Given the description of an element on the screen output the (x, y) to click on. 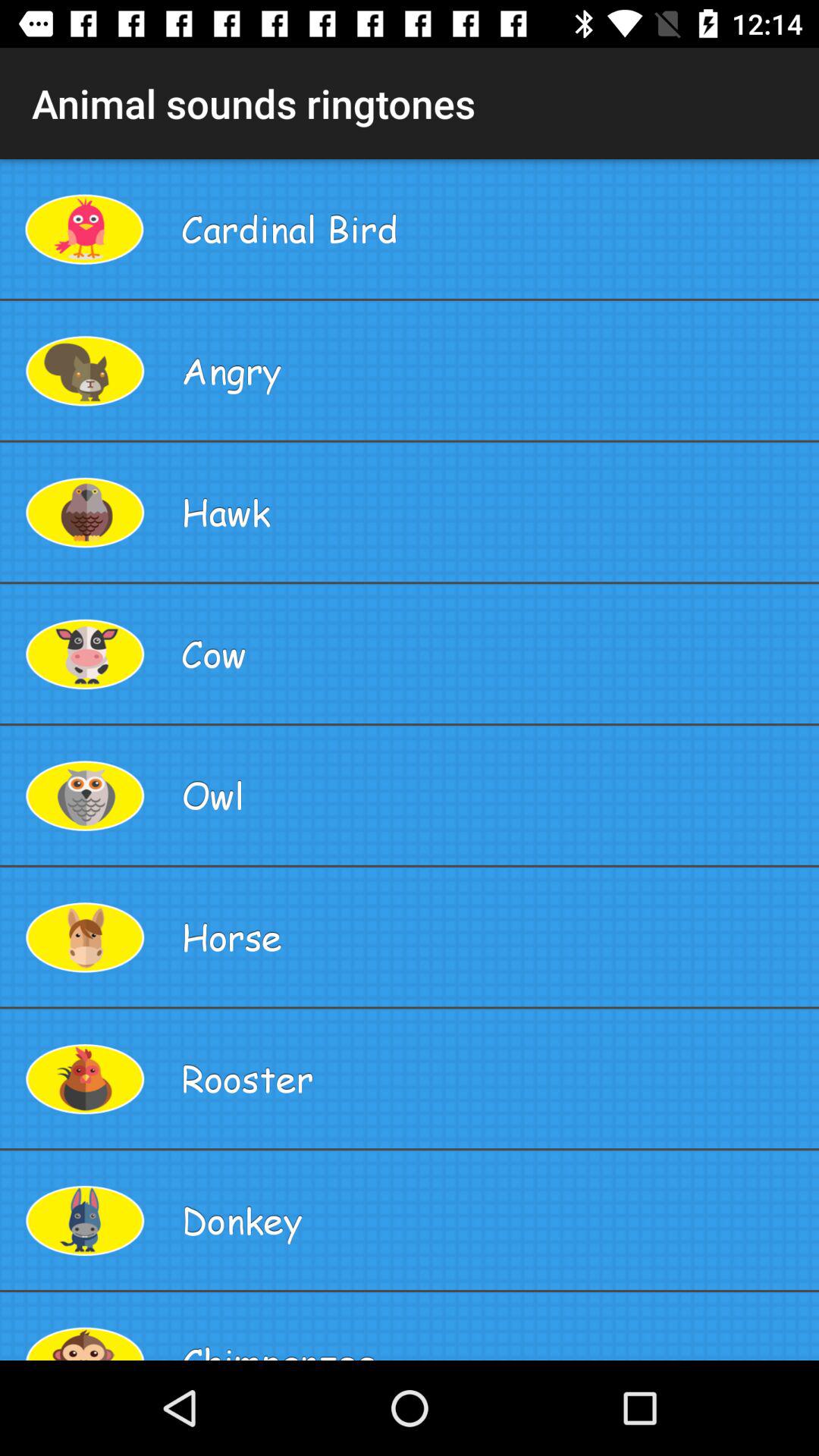
flip until angry (494, 370)
